Given the description of an element on the screen output the (x, y) to click on. 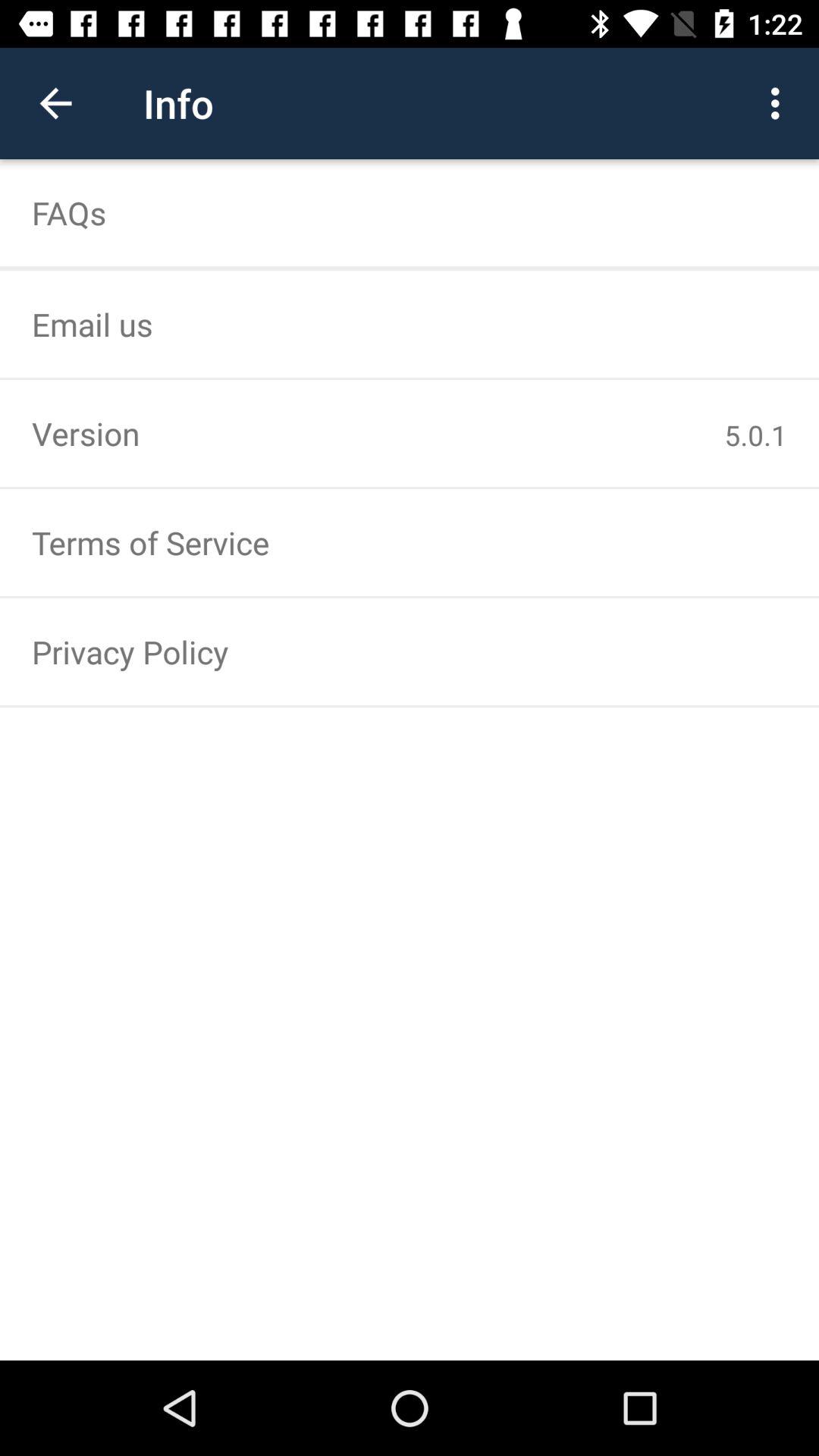
scroll to email us item (409, 323)
